Given the description of an element on the screen output the (x, y) to click on. 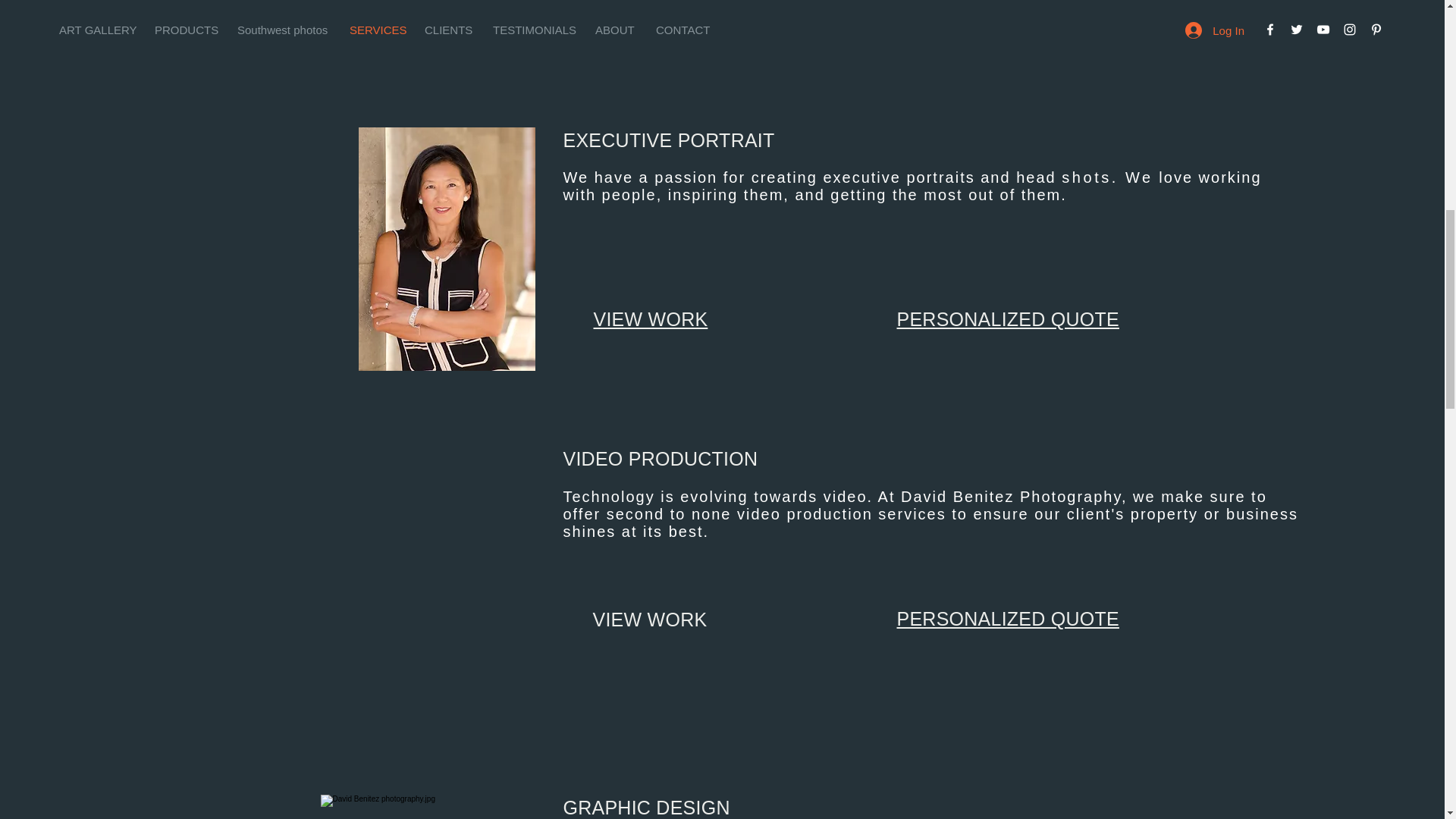
PERSONALIZED QUOTE (1007, 27)
PERSONALIZED QUOTE (1007, 618)
PERSONALIZED QUOTE (1007, 319)
VIEW WORK (649, 319)
